Given the description of an element on the screen output the (x, y) to click on. 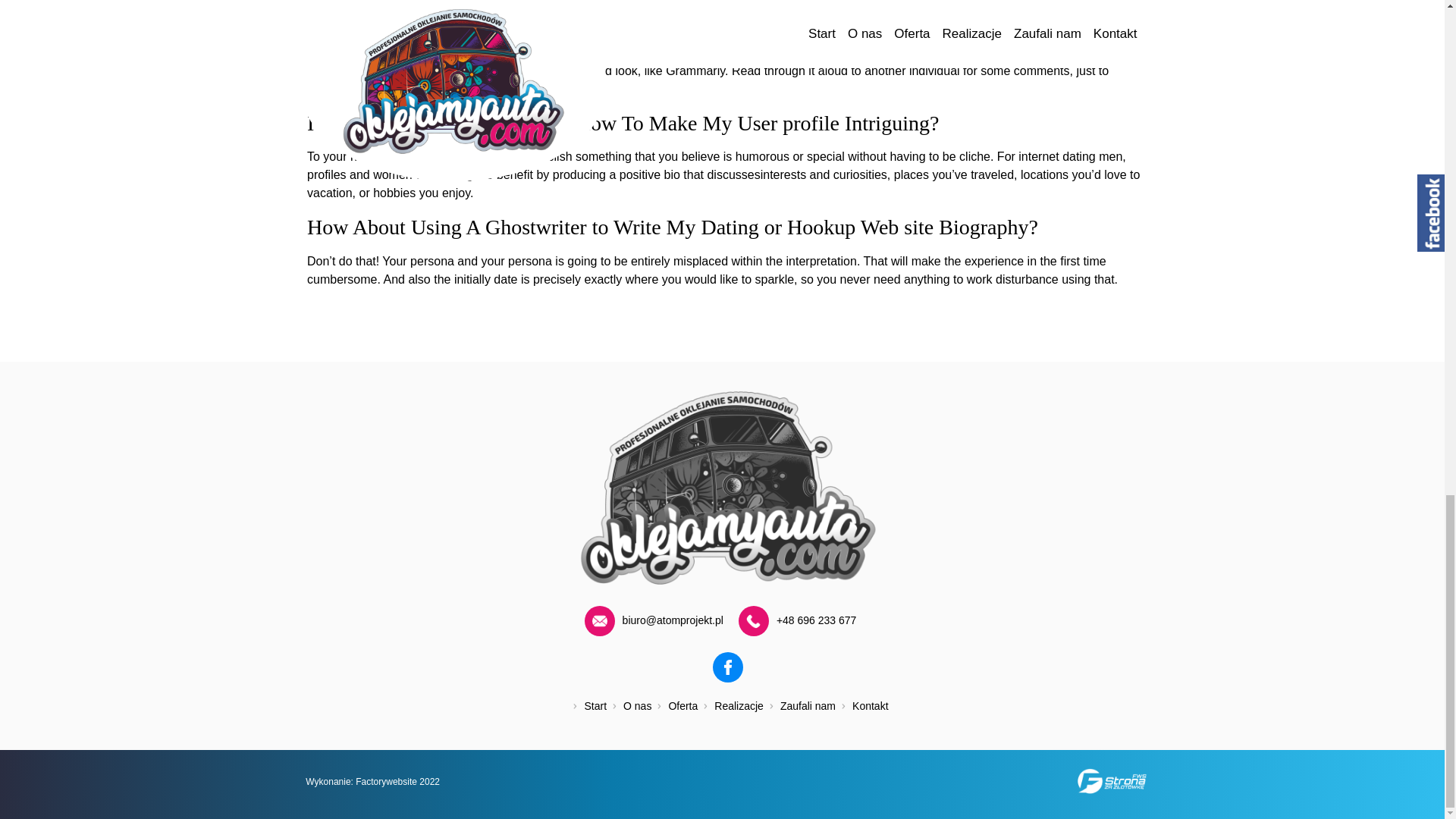
Oferta (673, 709)
O nas (628, 709)
Realizacje (729, 709)
Kontakt (861, 709)
Zaufali nam (798, 709)
Start (587, 709)
